Given the description of an element on the screen output the (x, y) to click on. 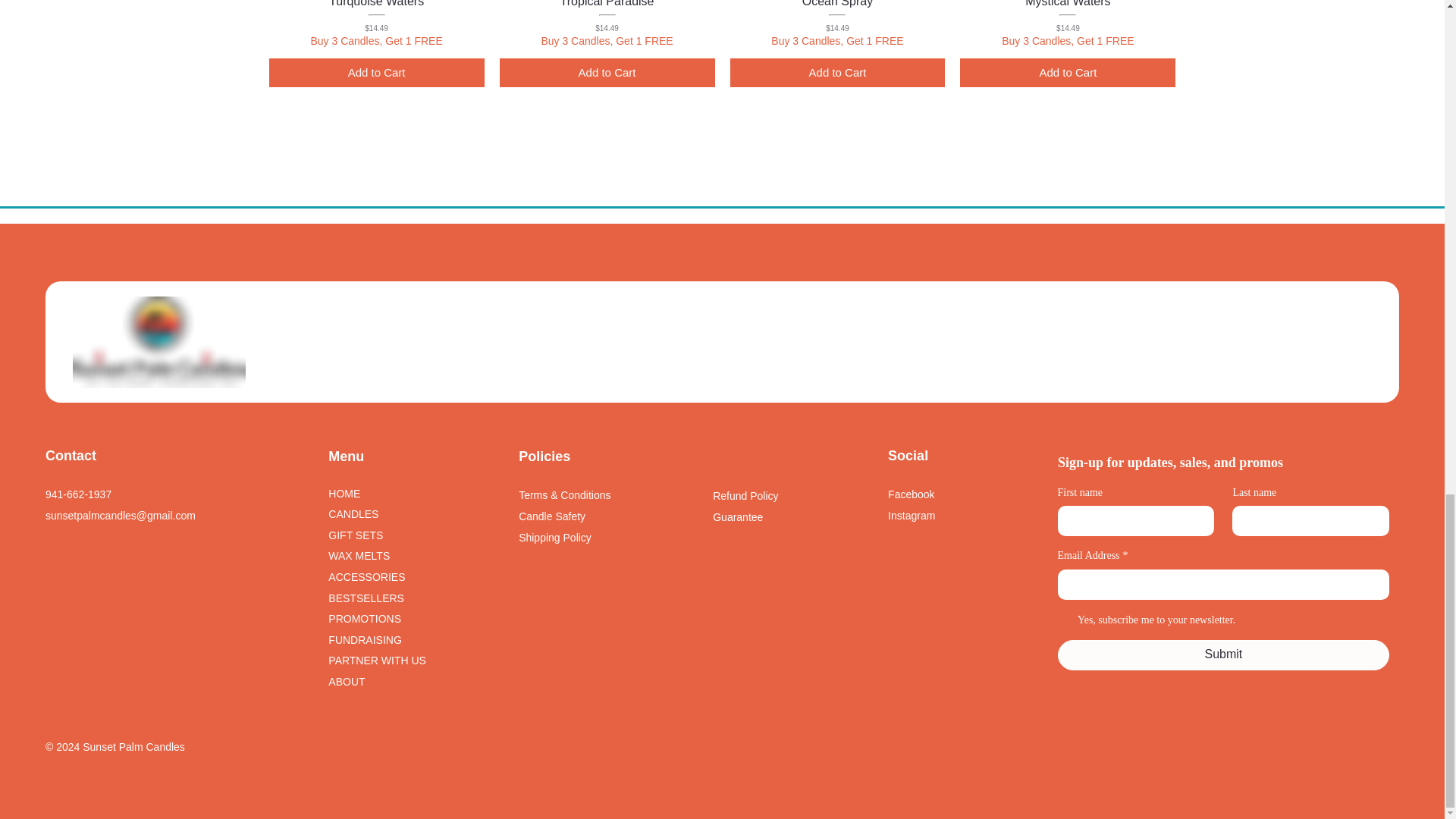
Add to Cart (606, 72)
Add to Cart (376, 72)
